Given the description of an element on the screen output the (x, y) to click on. 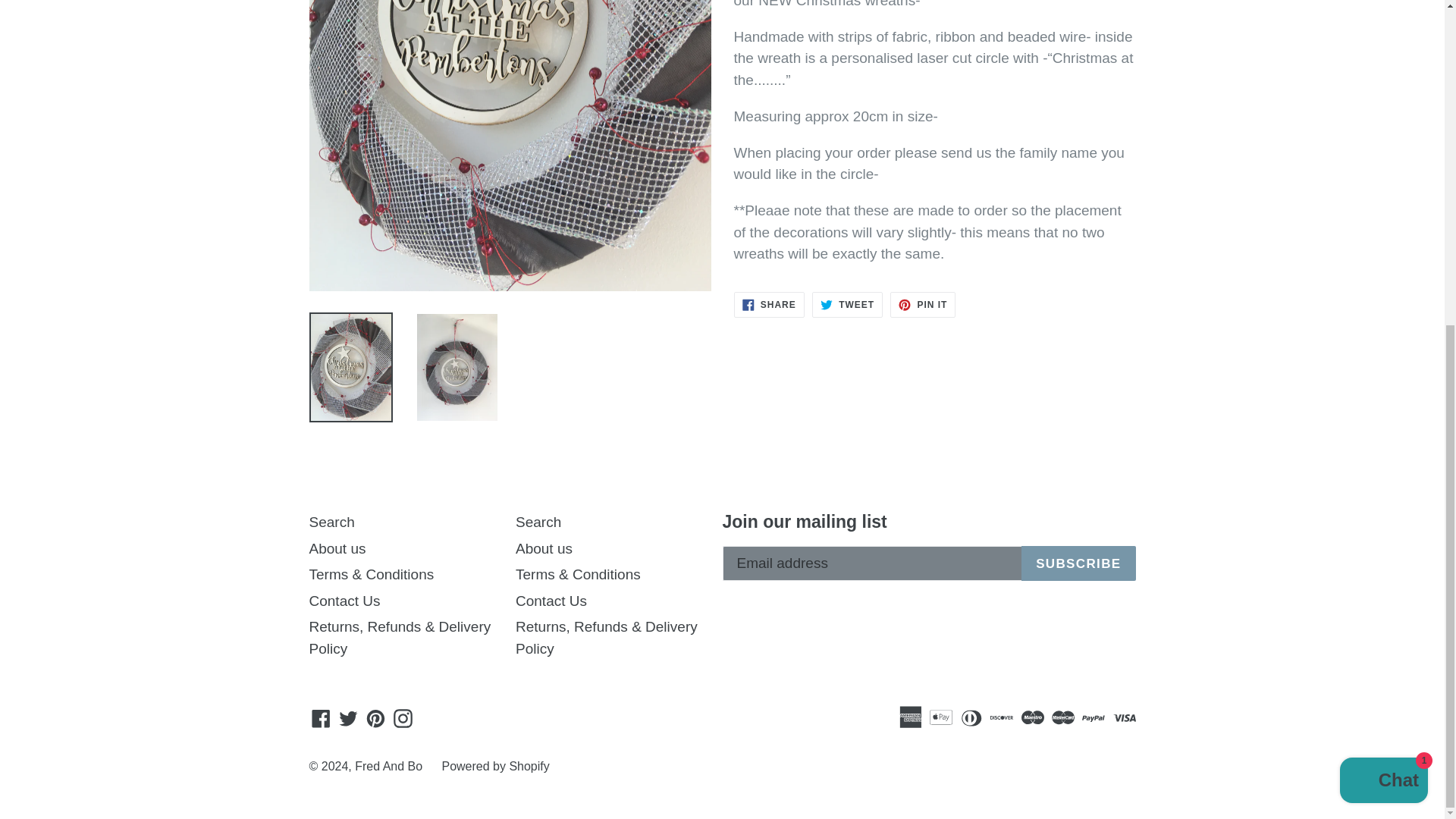
Fred And Bo on Twitter (347, 717)
Fred And Bo on Pinterest (375, 717)
Fred And Bo on Instagram (402, 717)
Tweet on Twitter (847, 304)
Shopify online store chat (1383, 248)
Pin on Pinterest (922, 304)
Share on Facebook (769, 304)
Fred And Bo on Facebook (320, 717)
